Given the description of an element on the screen output the (x, y) to click on. 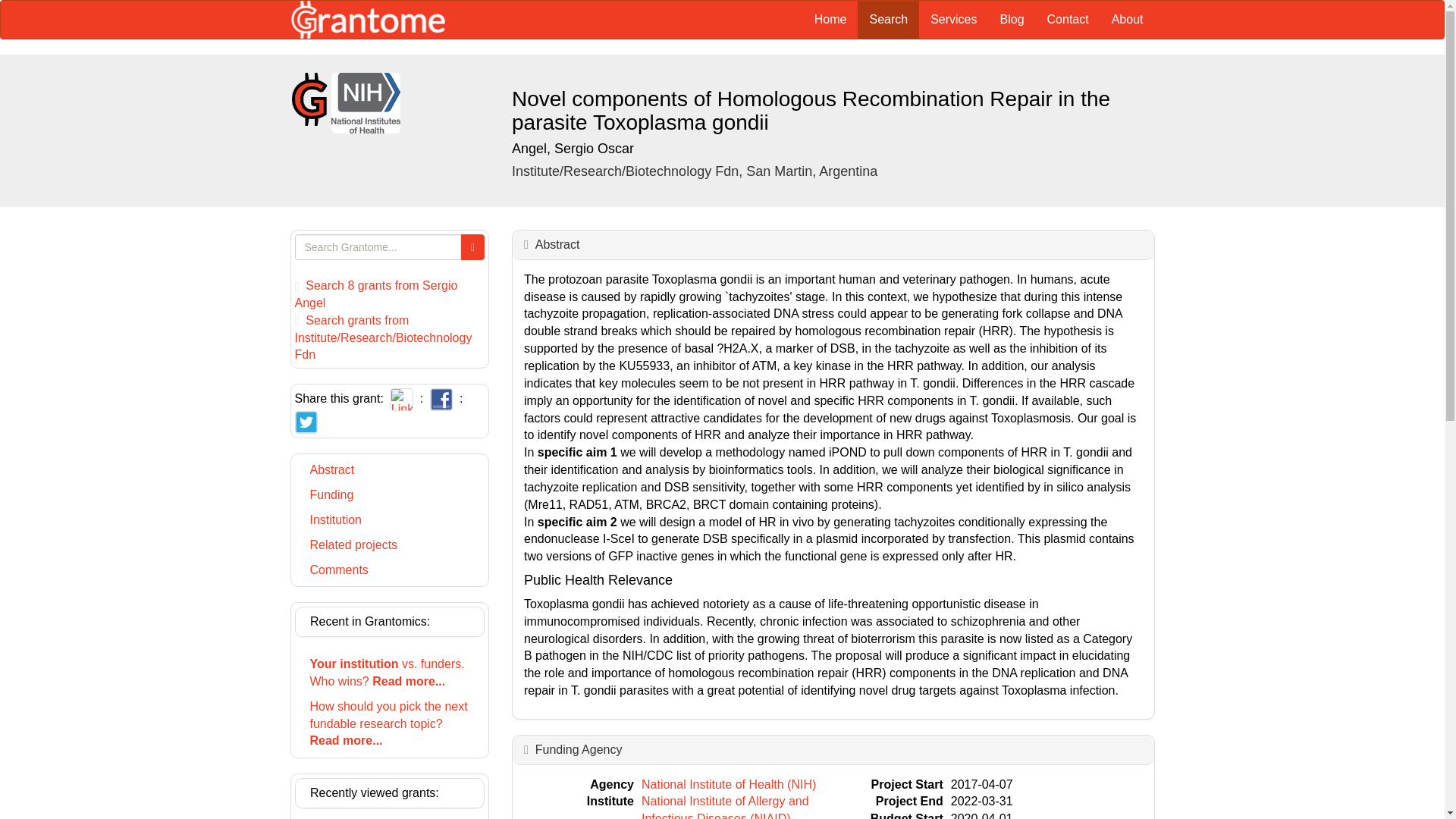
Related projects (389, 545)
Blog (1011, 19)
Abstract (557, 244)
Share on LinkedIn... (401, 398)
Search Sergio Angel in Grantome... (375, 294)
Comments (389, 570)
Services (953, 19)
Contact (1067, 19)
